Given the description of an element on the screen output the (x, y) to click on. 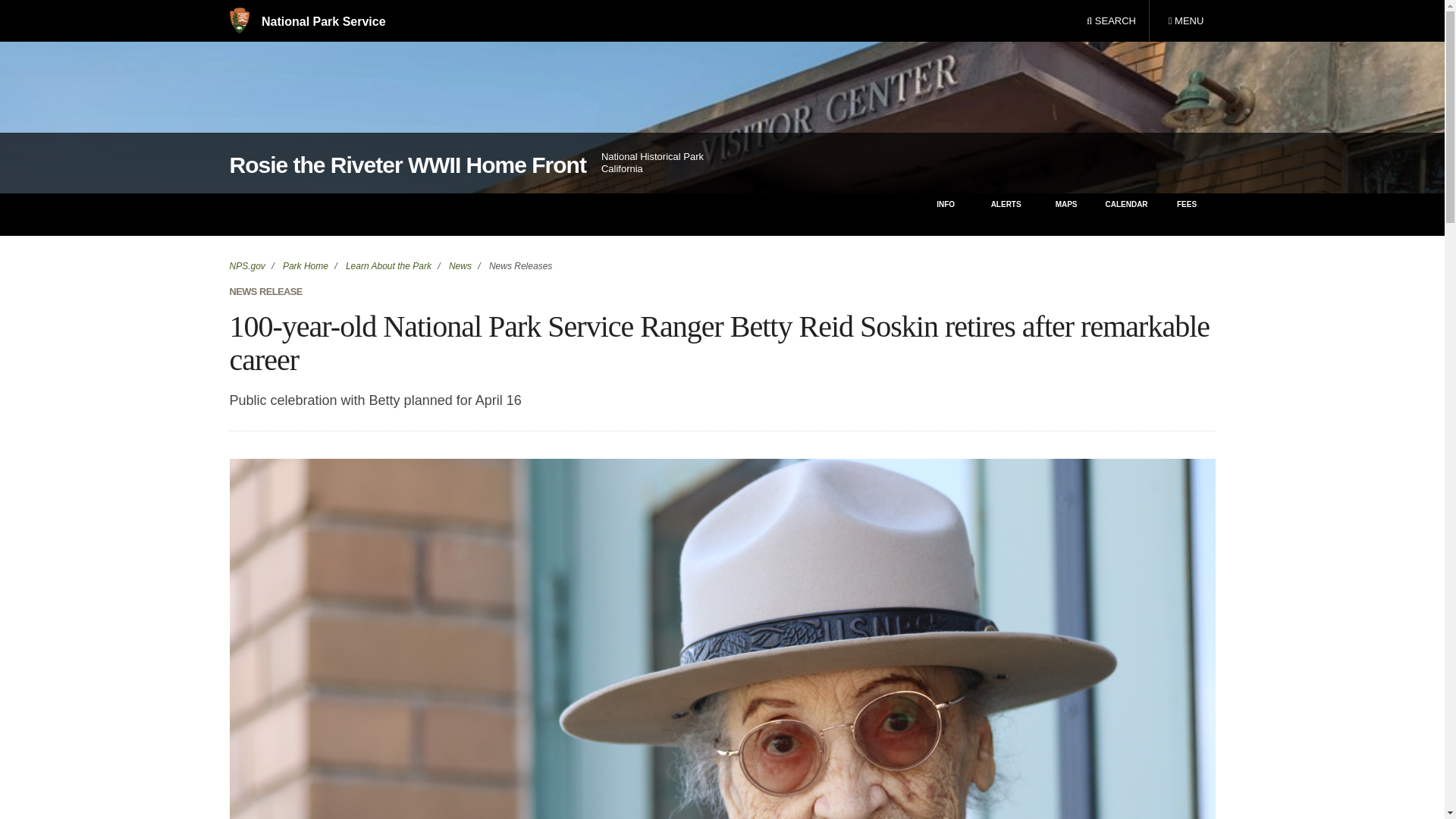
Learn About the Park (386, 266)
SEARCH (1111, 20)
ALERTS (1004, 214)
National Park Service (307, 20)
Rosie the Riveter WWII Home Front (406, 164)
NPS.gov (246, 266)
CALENDAR (1125, 214)
INFO (945, 214)
